Given the description of an element on the screen output the (x, y) to click on. 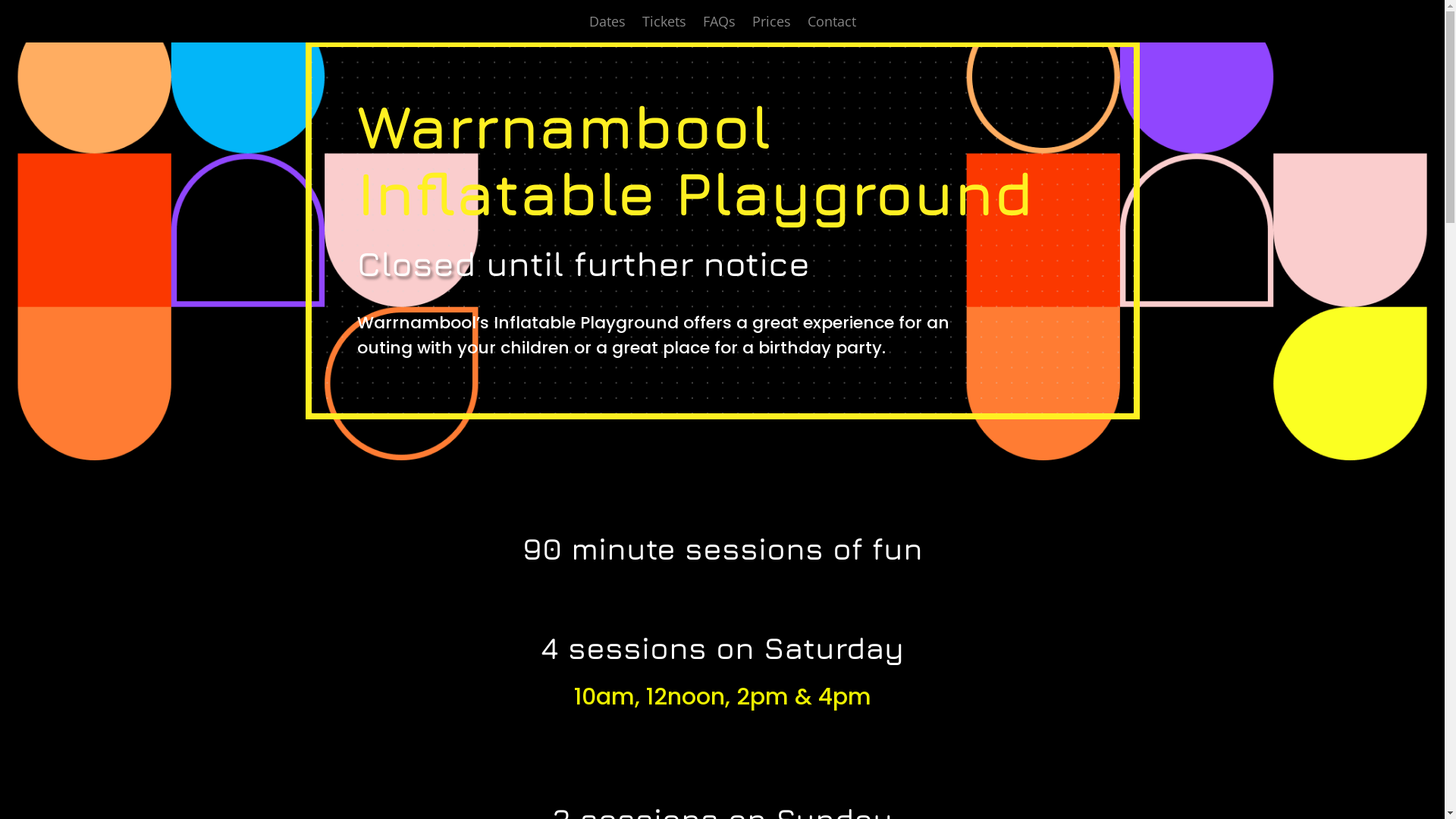
Contact Element type: text (830, 23)
Prices Element type: text (771, 23)
Tickets Element type: text (663, 23)
FAQs Element type: text (718, 23)
Dates Element type: text (606, 23)
